Given the description of an element on the screen output the (x, y) to click on. 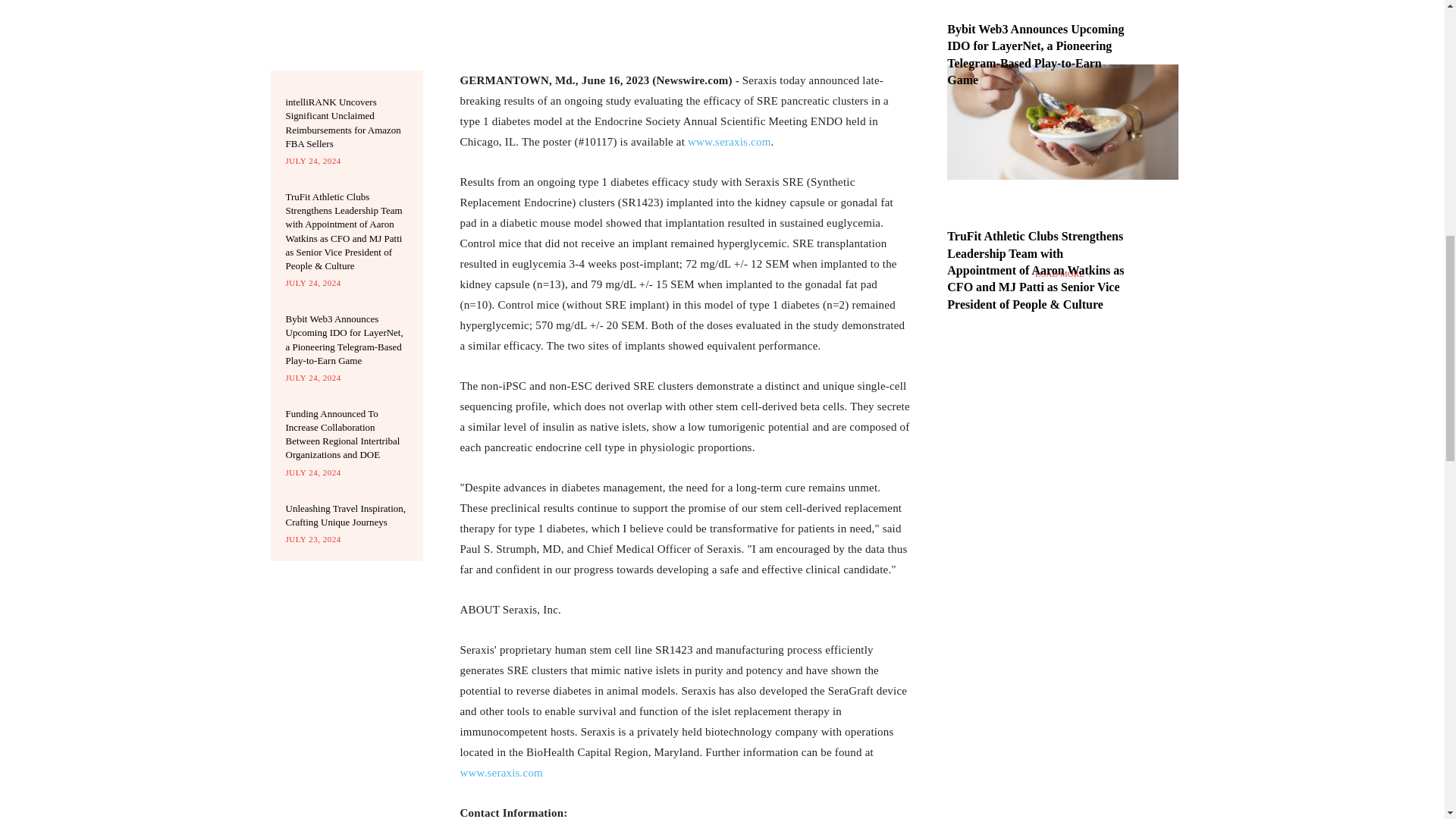
www.seraxis.com (501, 772)
Unleashing Travel Inspiration, Crafting Unique Journeys (345, 514)
www.seraxis.com (729, 141)
Unleashing Travel Inspiration, Crafting Unique Journeys (345, 514)
